Given the description of an element on the screen output the (x, y) to click on. 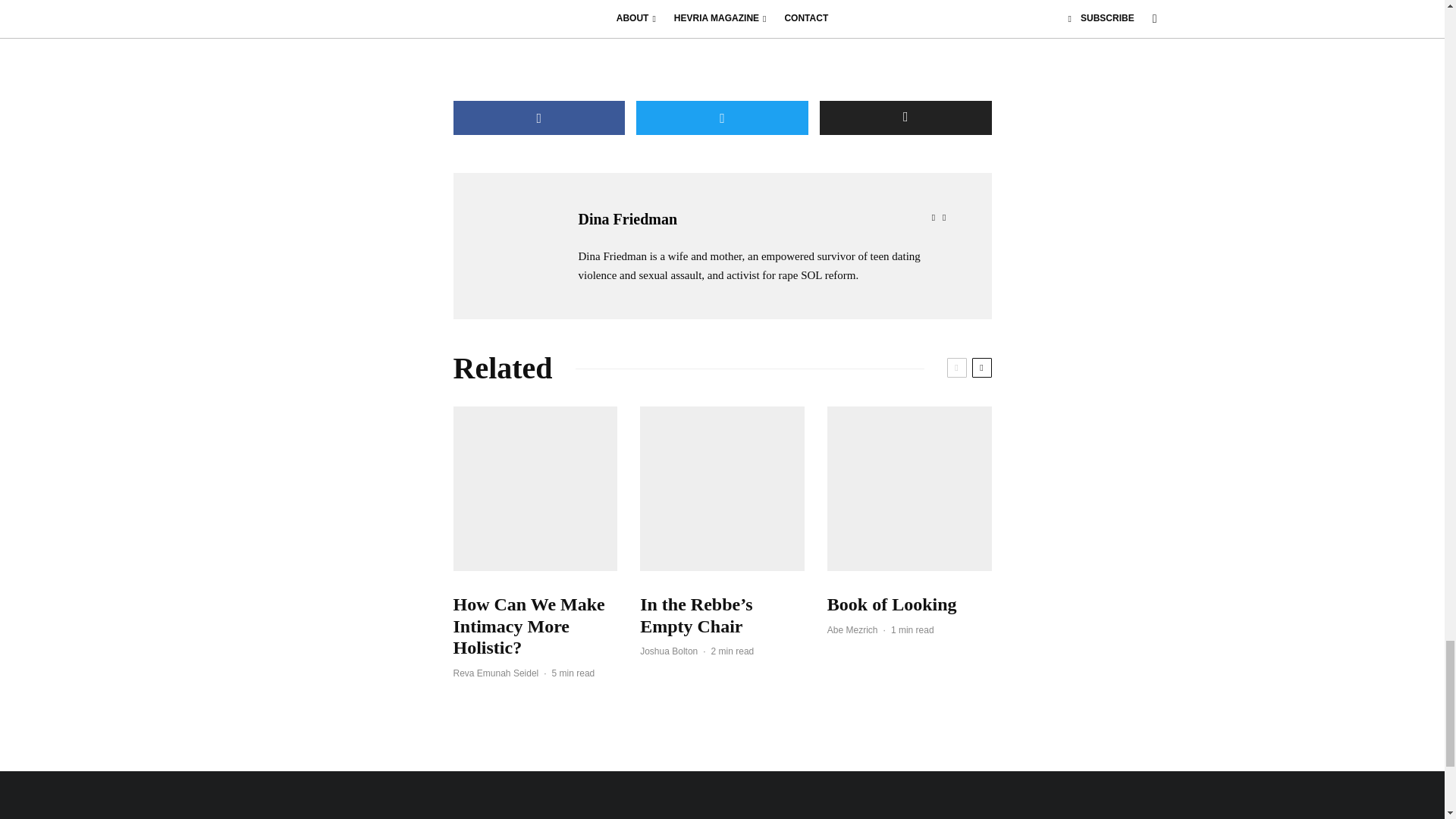
Dina Friedman (627, 218)
How Can We Make Intimacy More Holistic? (534, 626)
